Given the description of an element on the screen output the (x, y) to click on. 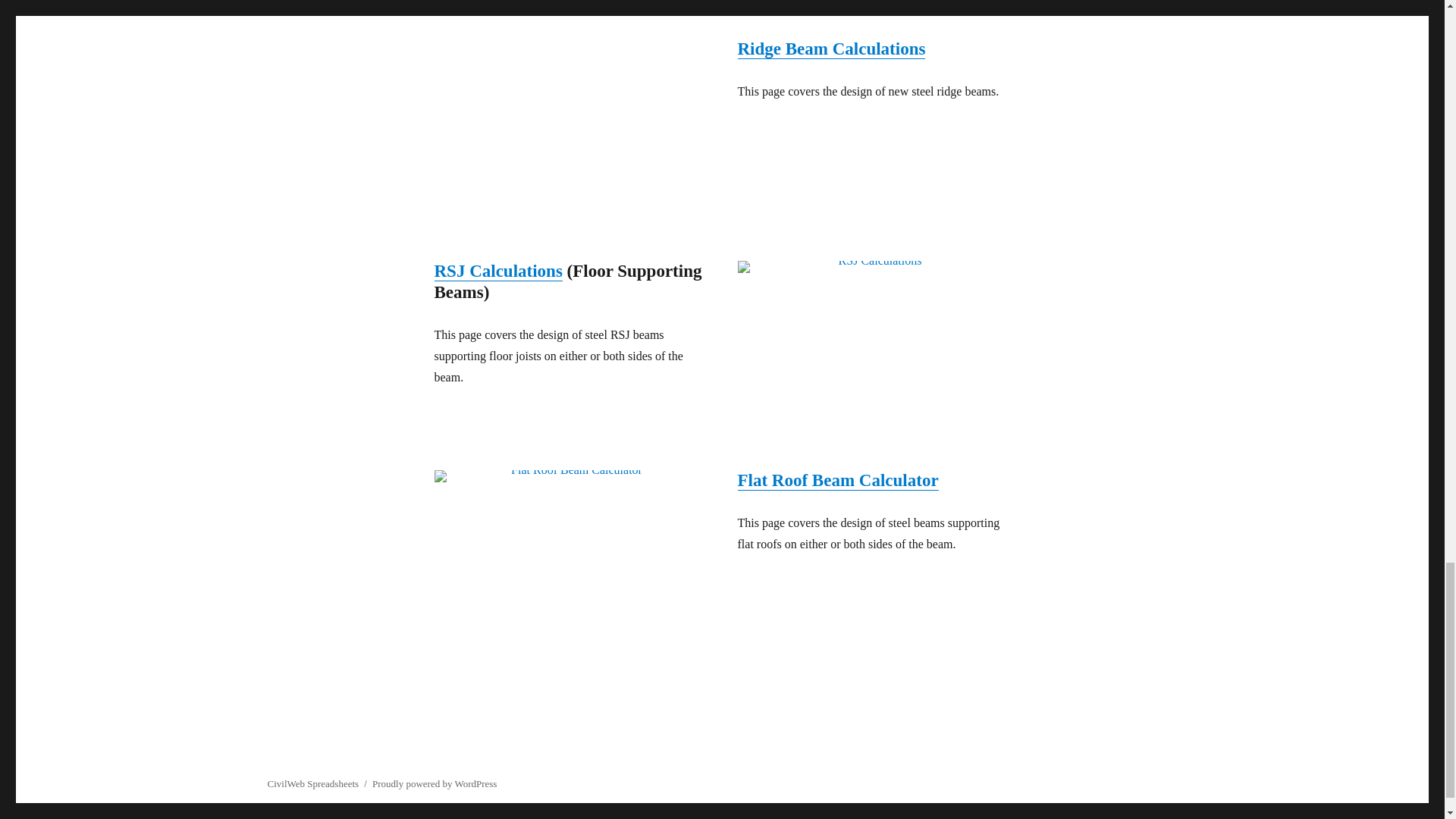
Flat Roof Beam Calculator (836, 479)
RSJ Calculations (873, 329)
RSJ Calculations (497, 270)
Ridge Beam Calculations (830, 48)
Ridge Beam Calculations (569, 119)
Flat Roof Beam Calculator (569, 522)
